Given the description of an element on the screen output the (x, y) to click on. 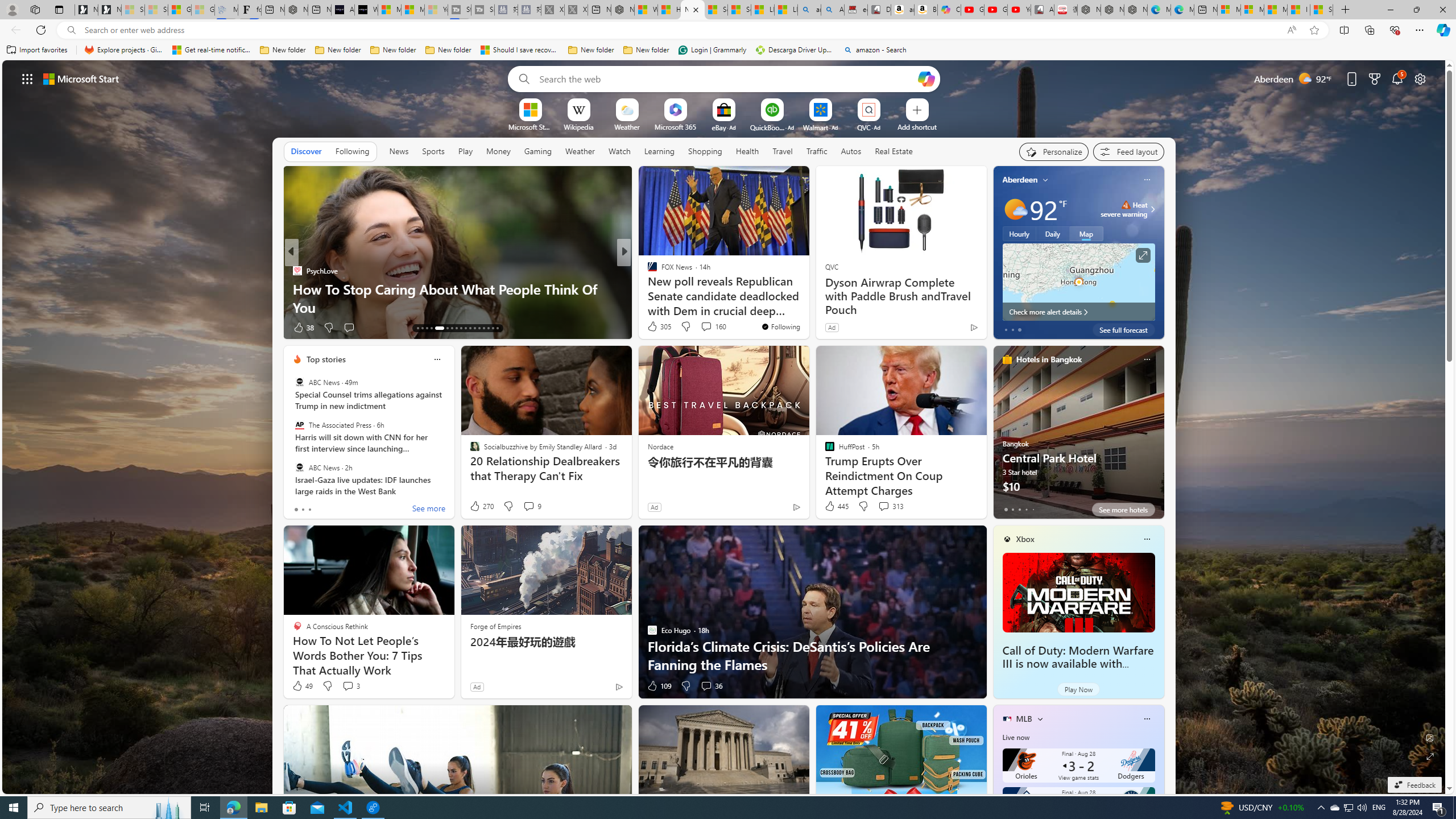
Add a site (916, 126)
View comments 1k Comment (703, 327)
Cents + Purpose (647, 288)
Central Park Hotel (1078, 436)
tab-3 (1025, 509)
